Given the description of an element on the screen output the (x, y) to click on. 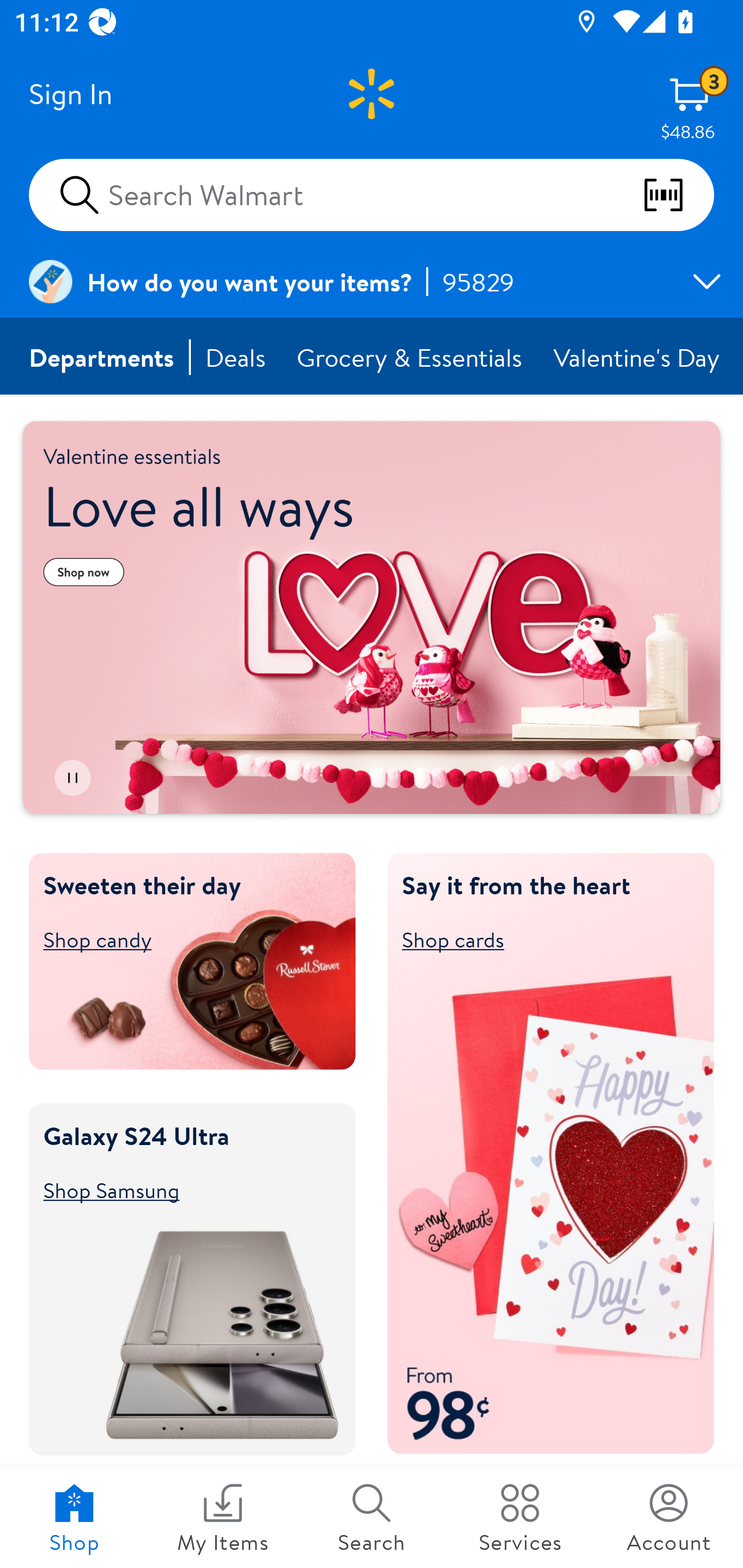
Sign In (70, 93)
Search Walmart scan barcodes qr codes and more (371, 194)
scan barcodes qr codes and more (677, 195)
Departments (102, 357)
Deals (236, 357)
Grocery & Essentials (410, 357)
Valentine's Day (637, 357)
Pause (72, 777)
Shop candy Shop candy Sweeten their day (183, 939)
Shop cards Shop cards Say it from the heart (541, 939)
Shop Samsung Shop Samsung Galaxy S24 Ultra (183, 1190)
My Items (222, 1517)
Search (371, 1517)
Services (519, 1517)
Account (668, 1517)
